Given the description of an element on the screen output the (x, y) to click on. 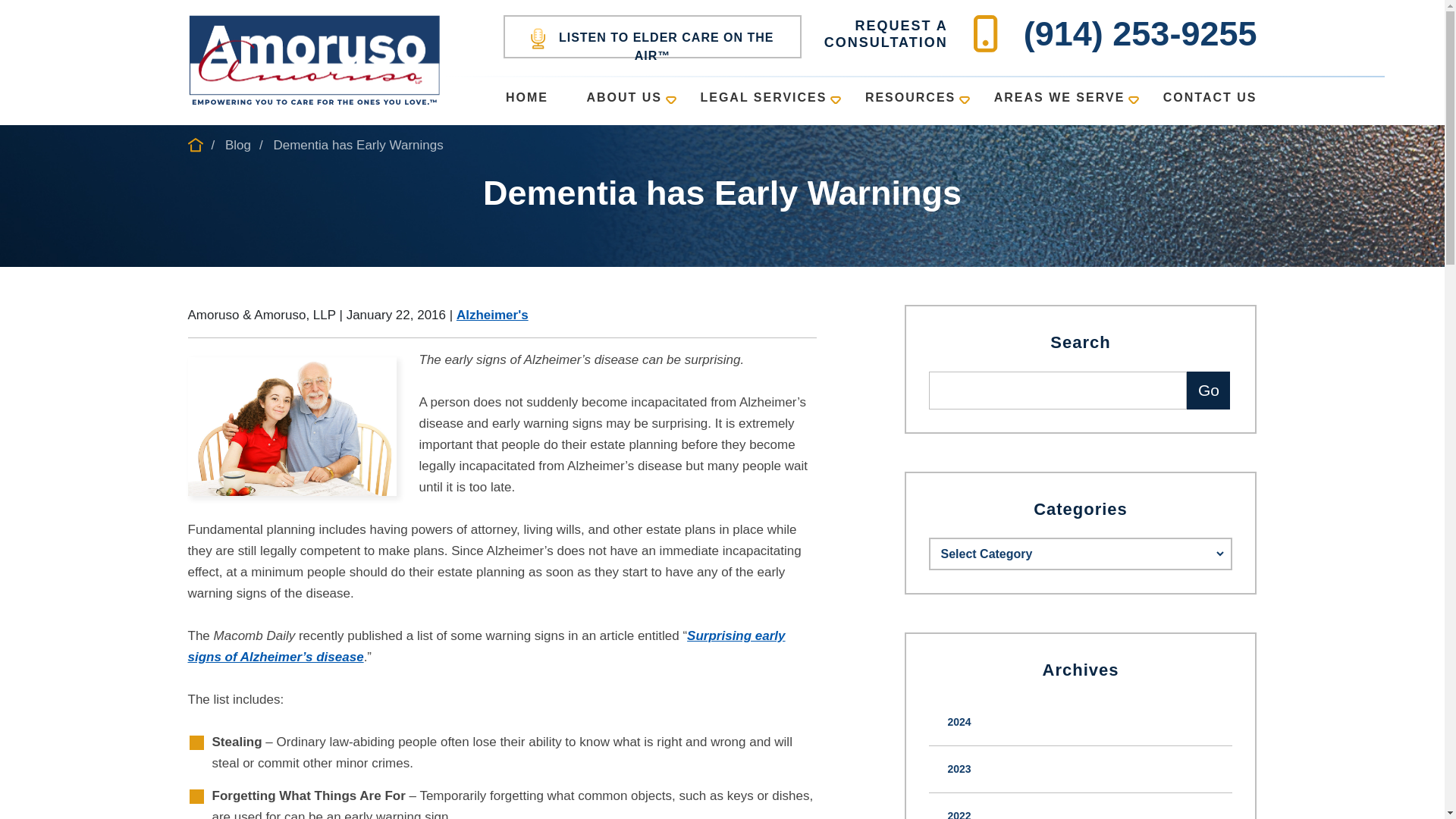
Go (1208, 390)
Legal Services (762, 102)
About Us (623, 102)
Home (526, 102)
